Given the description of an element on the screen output the (x, y) to click on. 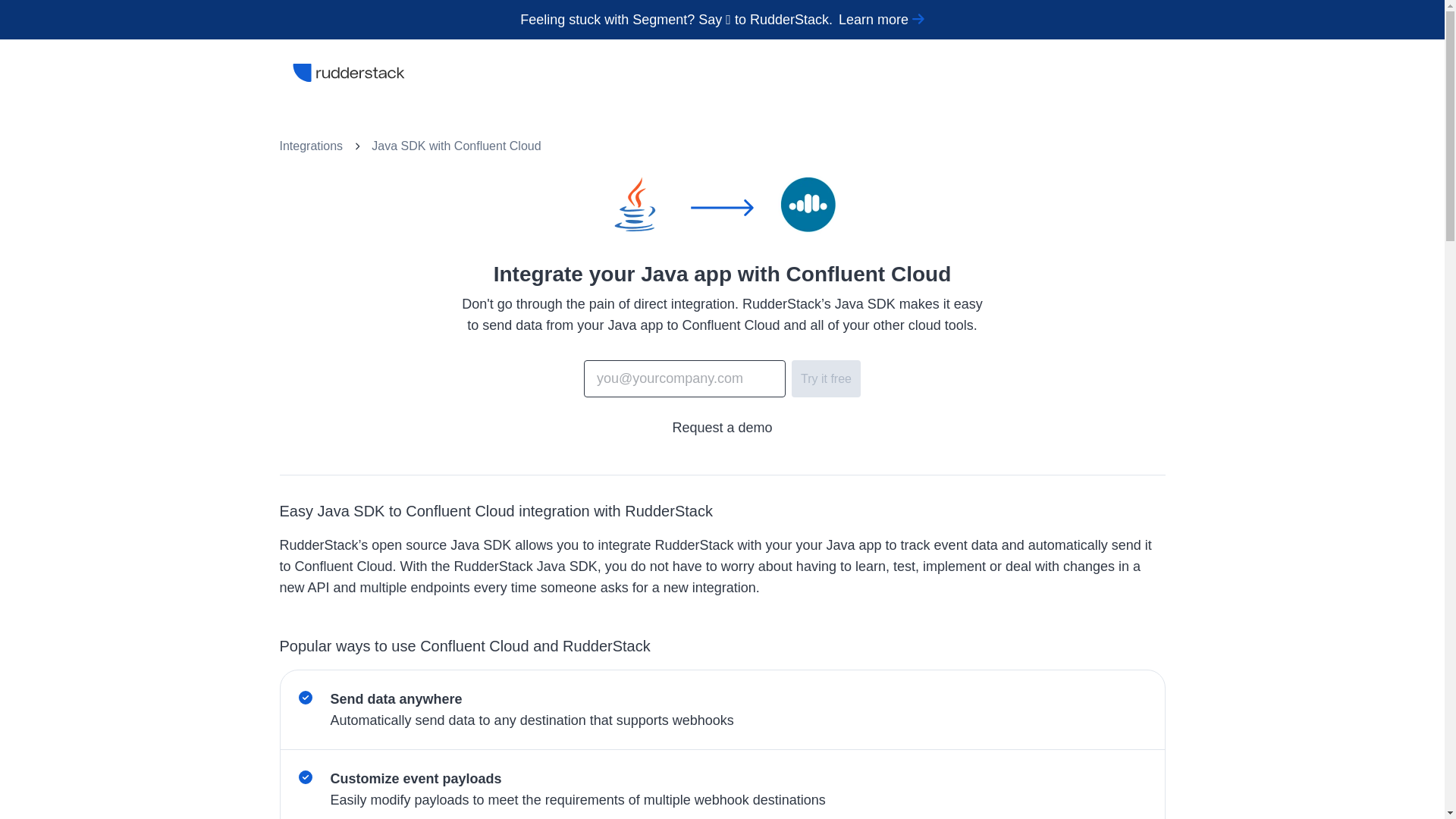
Request a demo (721, 427)
Integrations (310, 145)
Java SDK (398, 145)
Learn more (881, 19)
Try it free (826, 378)
Confluent Cloud (497, 145)
